Given the description of an element on the screen output the (x, y) to click on. 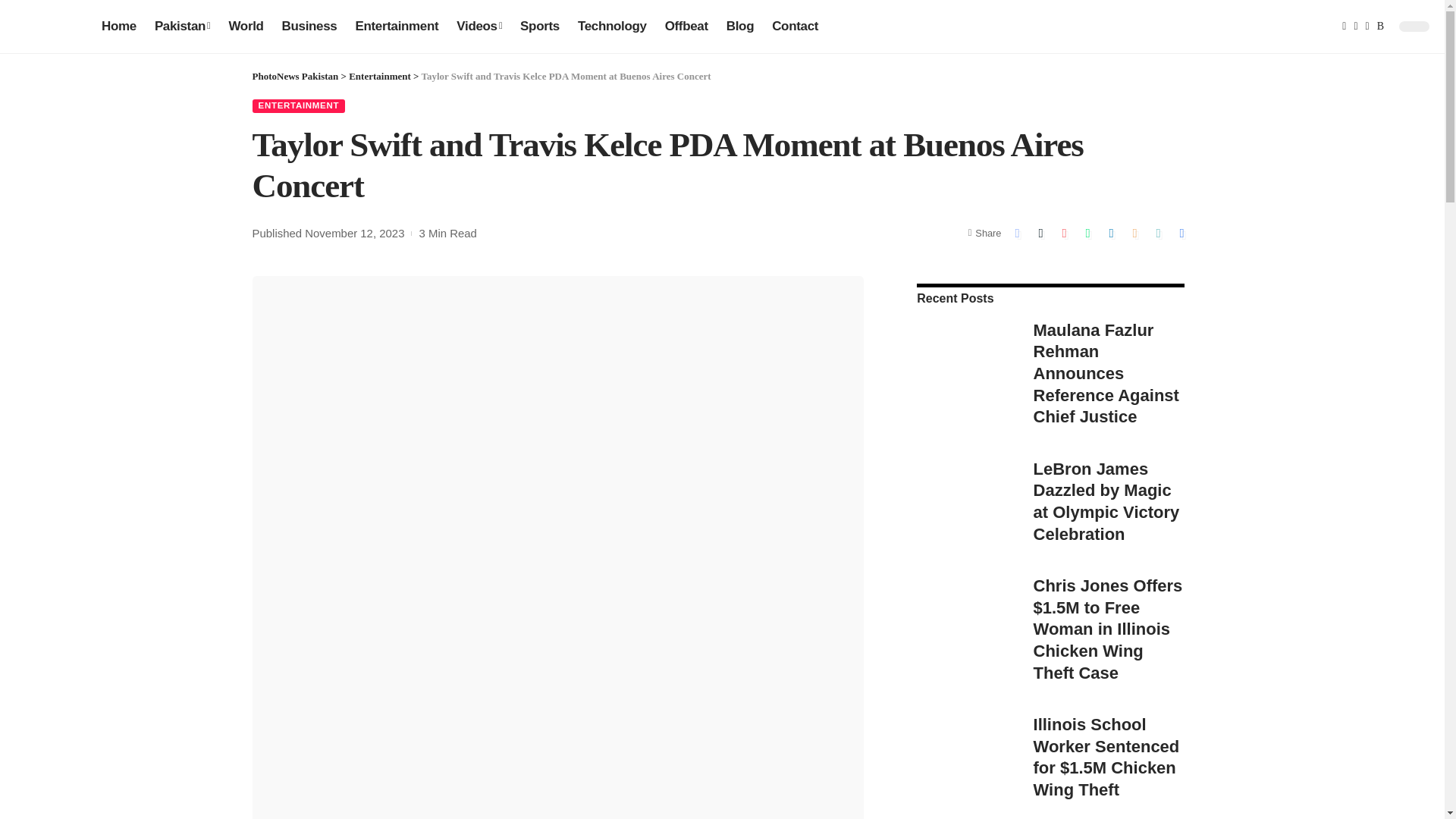
Entertainment (396, 26)
Go to the Entertainment Category archives. (379, 75)
World (245, 26)
Technology (612, 26)
Videos (478, 26)
Home (119, 26)
Business (309, 26)
Go to PhotoNews Pakistan. (294, 75)
Blog (739, 26)
